Given the description of an element on the screen output the (x, y) to click on. 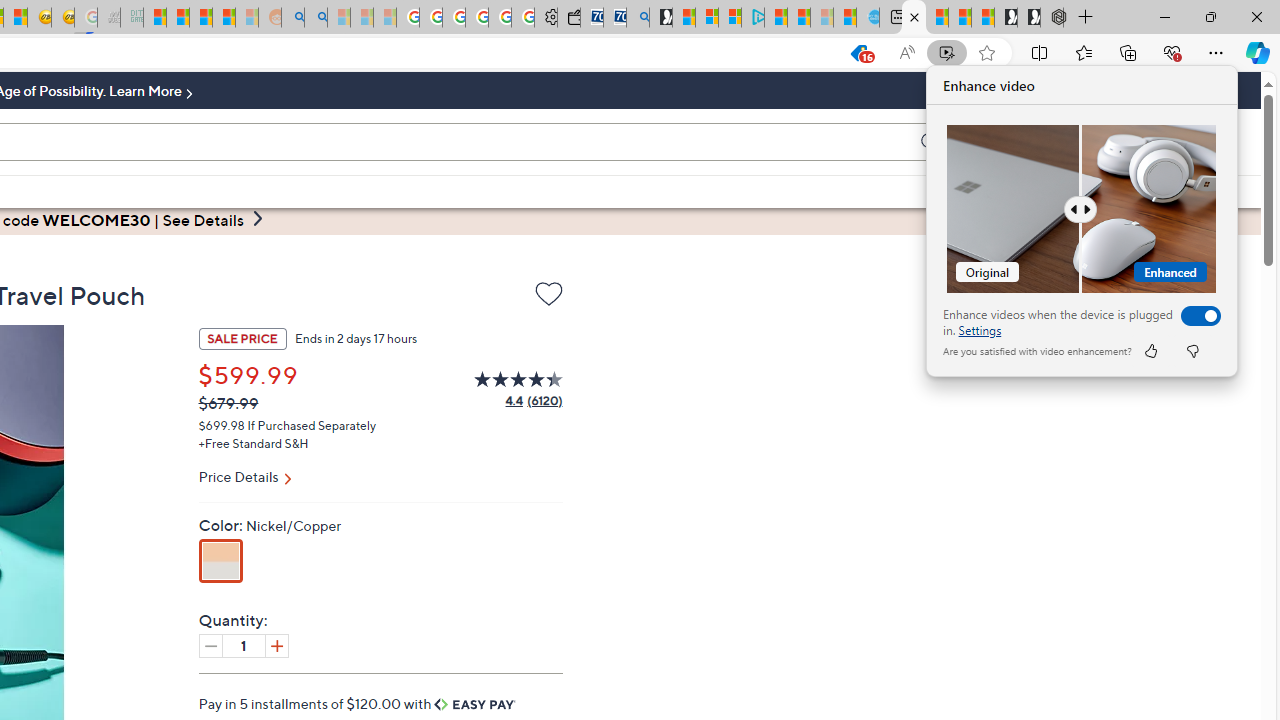
dislike (1192, 350)
Bing Real Estate - Home sales and rental listings (637, 17)
Pay in 5 installments of $120.00 with Easy Pay (357, 703)
Add to Wish List (548, 294)
